Given the description of an element on the screen output the (x, y) to click on. 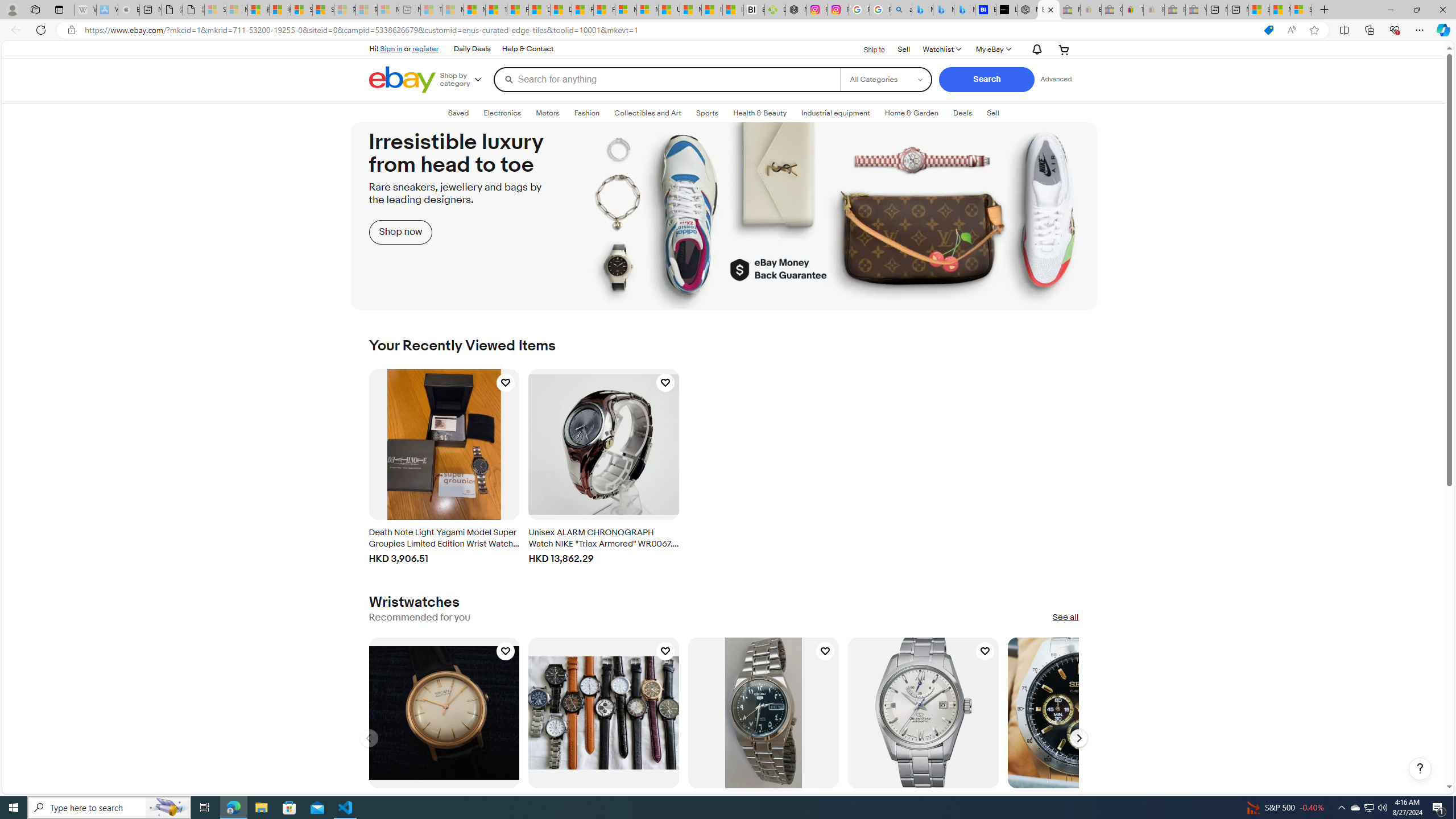
Microsoft Bing Travel - Shangri-La Hotel Bangkok (964, 9)
Deals (962, 112)
NEW Seiko 5 Men's Automatic Watch with Arabic Dial New (763, 712)
Top Stories - MSN - Sleeping (431, 9)
Watchlist (940, 49)
Go to the next slide, Wristwatches - Carousel (1077, 737)
Press Room - eBay Inc. - Sleeping (1174, 9)
Help & Contact (527, 49)
